Given the description of an element on the screen output the (x, y) to click on. 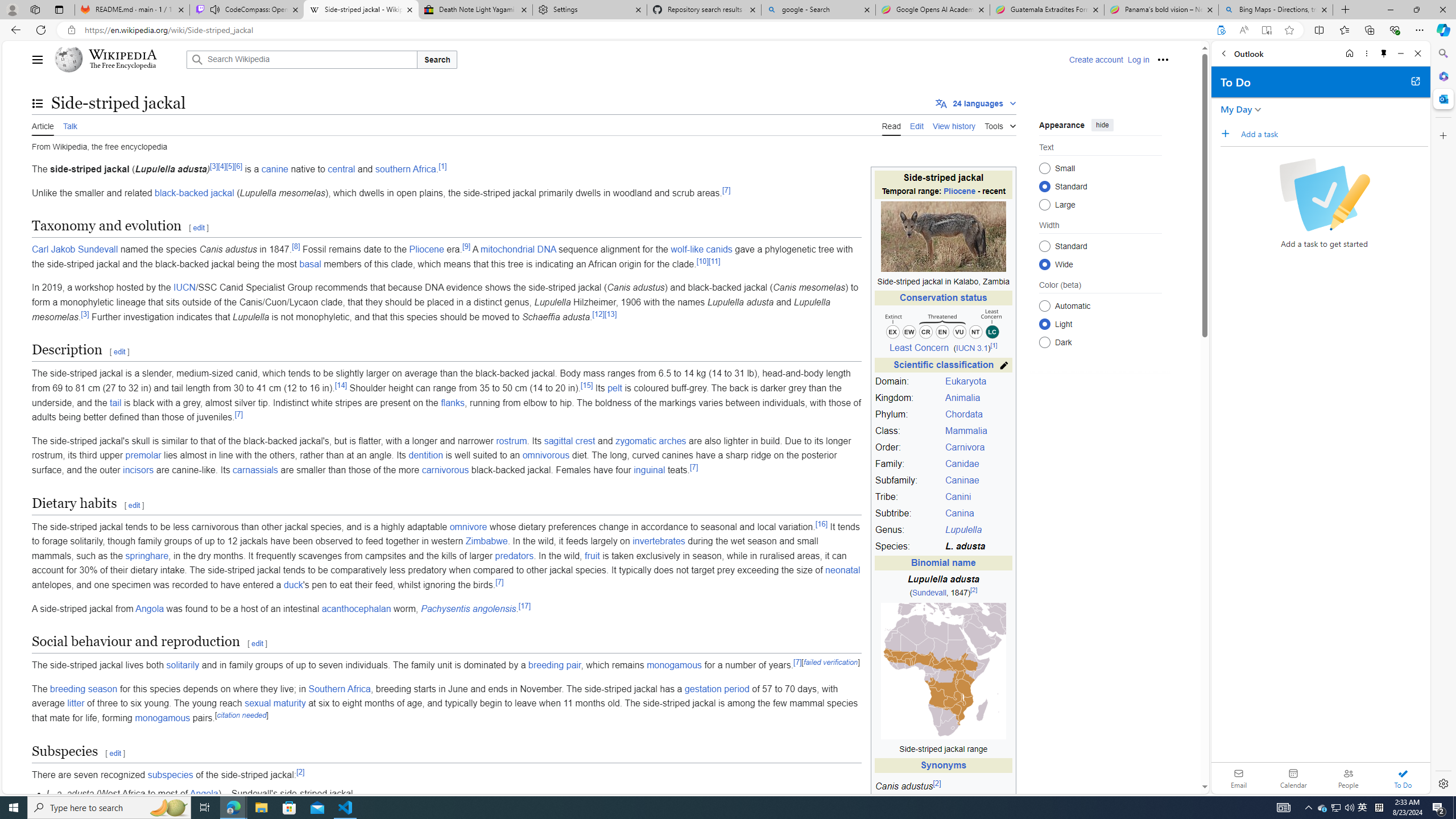
Wide (1044, 263)
The Free Encyclopedia (121, 65)
[4] (221, 165)
Article (42, 124)
basal (309, 263)
gestation period (716, 688)
Edit (917, 124)
Read (890, 124)
southern Africa (405, 169)
[3] (84, 313)
[17] (524, 605)
springhare (146, 555)
